Given the description of an element on the screen output the (x, y) to click on. 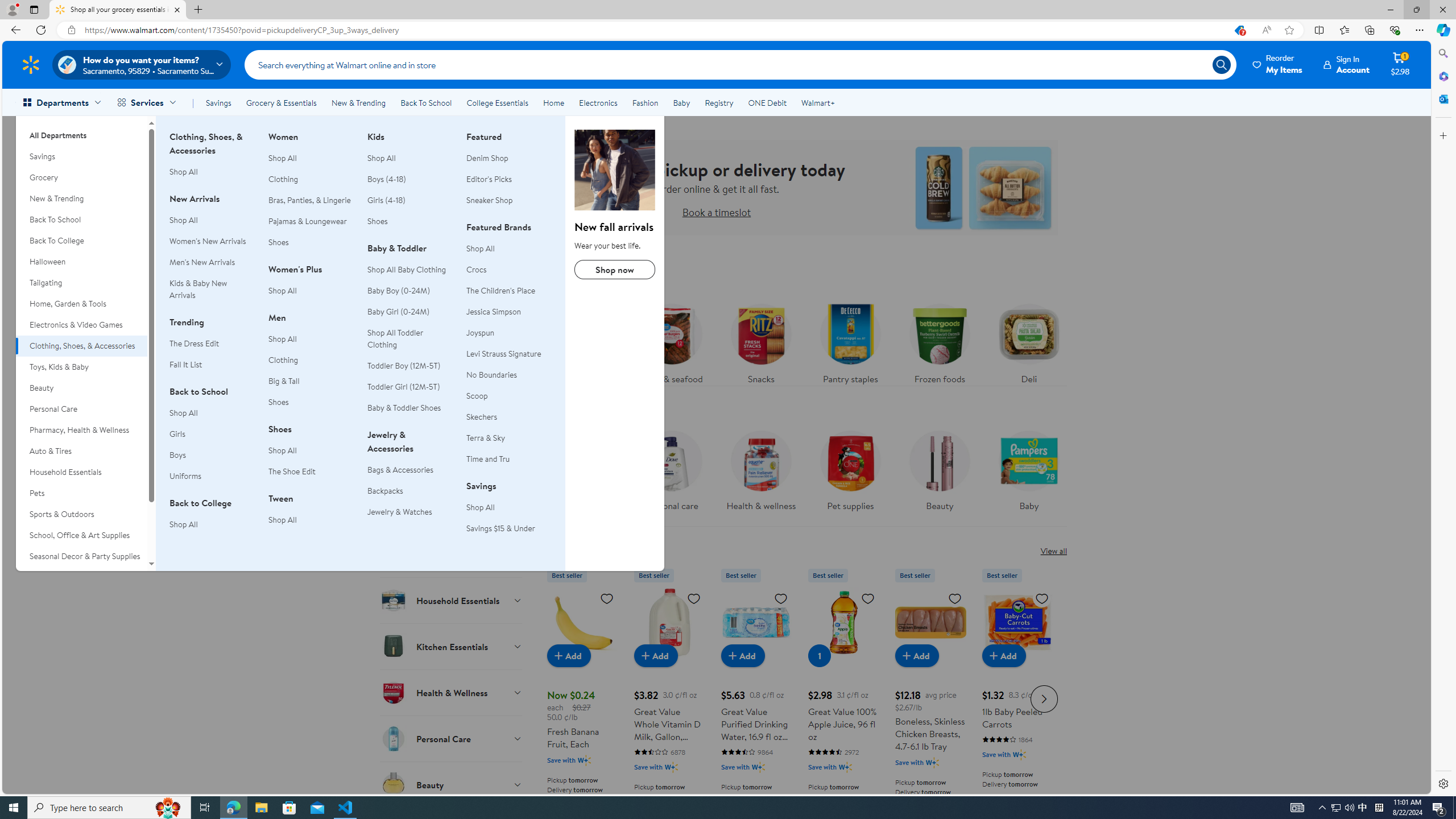
Sneaker Shop (508, 200)
Book a timeslot (716, 211)
Grocery & Essentials (280, 102)
Pets (81, 493)
Personal care (671, 473)
Editor's Picks (488, 179)
MenShop AllClothingBig & TallShoes (310, 365)
Toys, Kids & Baby (81, 366)
Baby (1028, 467)
The Shoe Edit (310, 471)
1 in cart, Great Value 100% Apple Juice, 96 fl oz (819, 655)
No Boundaries (508, 374)
